Given the description of an element on the screen output the (x, y) to click on. 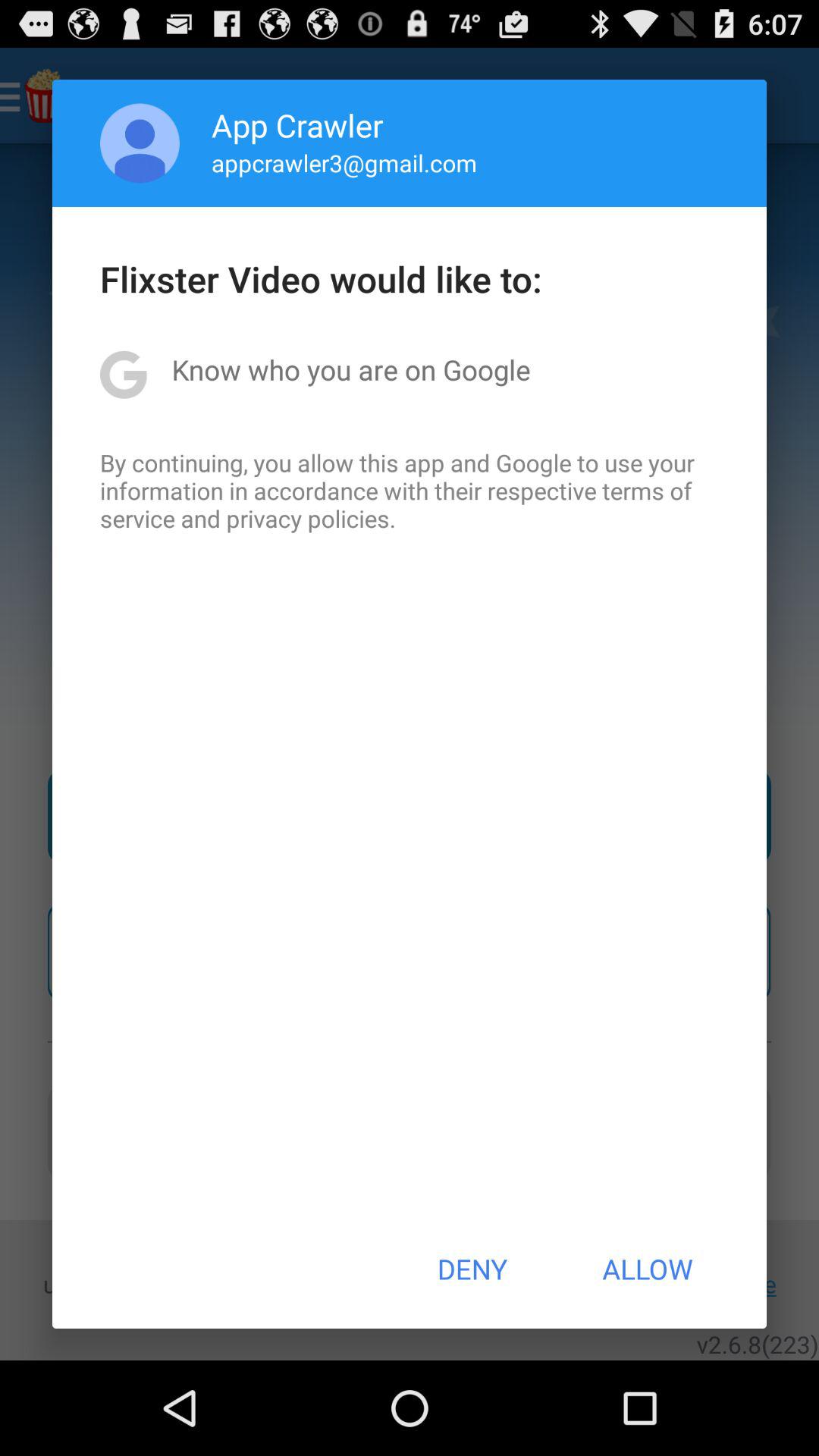
select item above the flixster video would icon (344, 162)
